Given the description of an element on the screen output the (x, y) to click on. 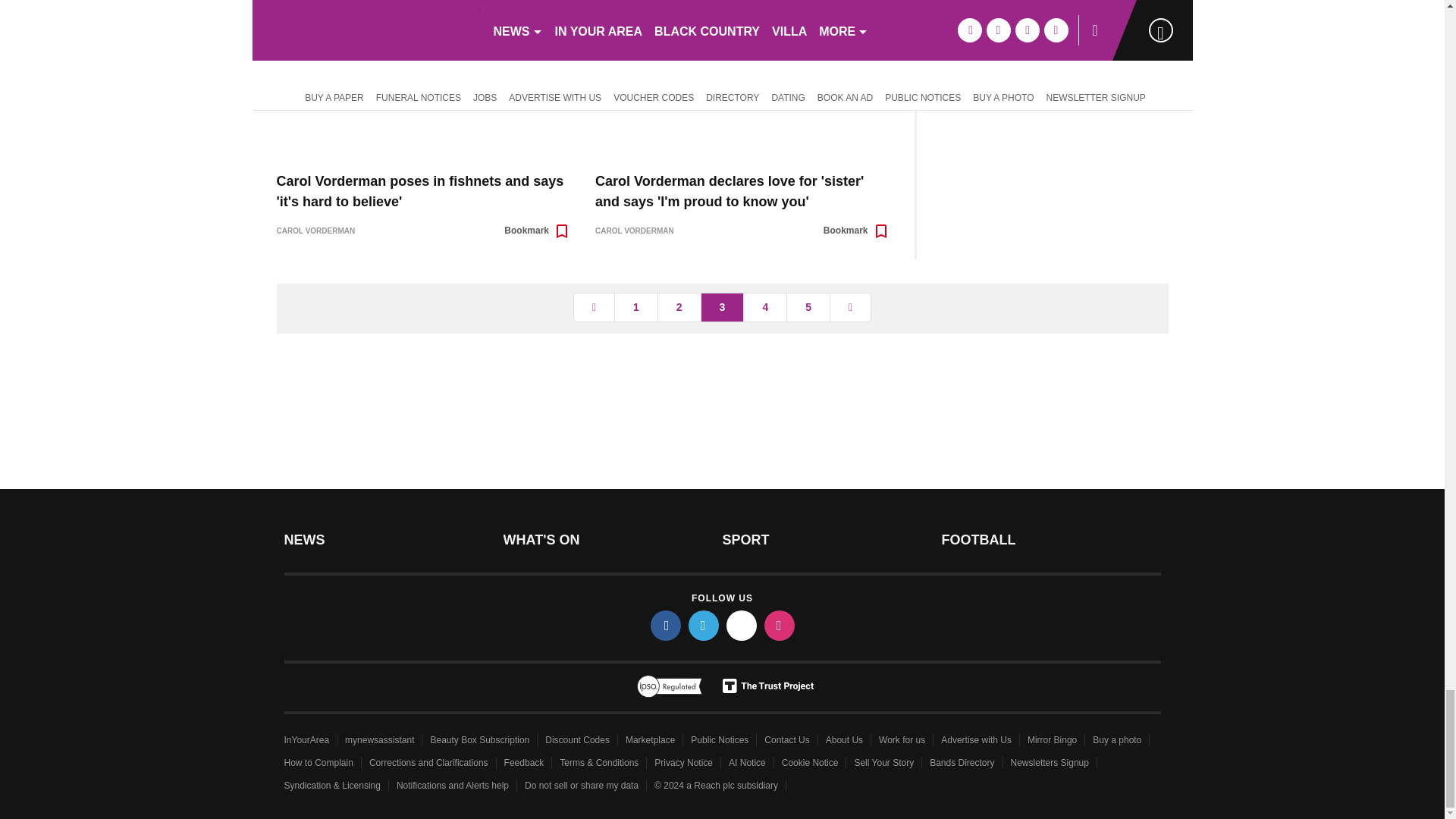
instagram (779, 625)
facebook (665, 625)
tiktok (741, 625)
twitter (703, 625)
